Given the description of an element on the screen output the (x, y) to click on. 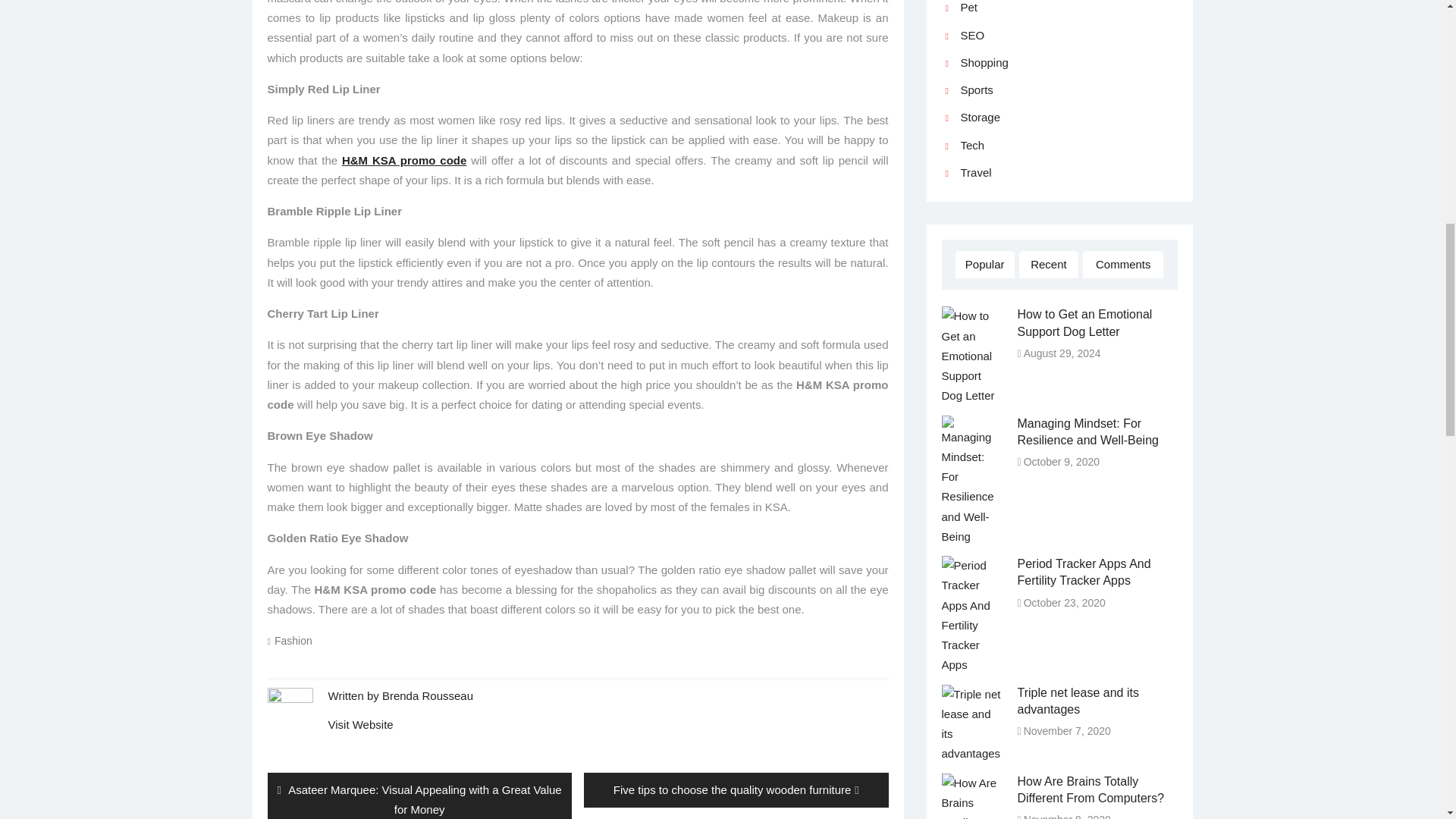
Fashion (735, 790)
Brenda Rousseau (294, 640)
Posts by Brenda Rousseau (427, 694)
Visit Website (427, 694)
